Given the description of an element on the screen output the (x, y) to click on. 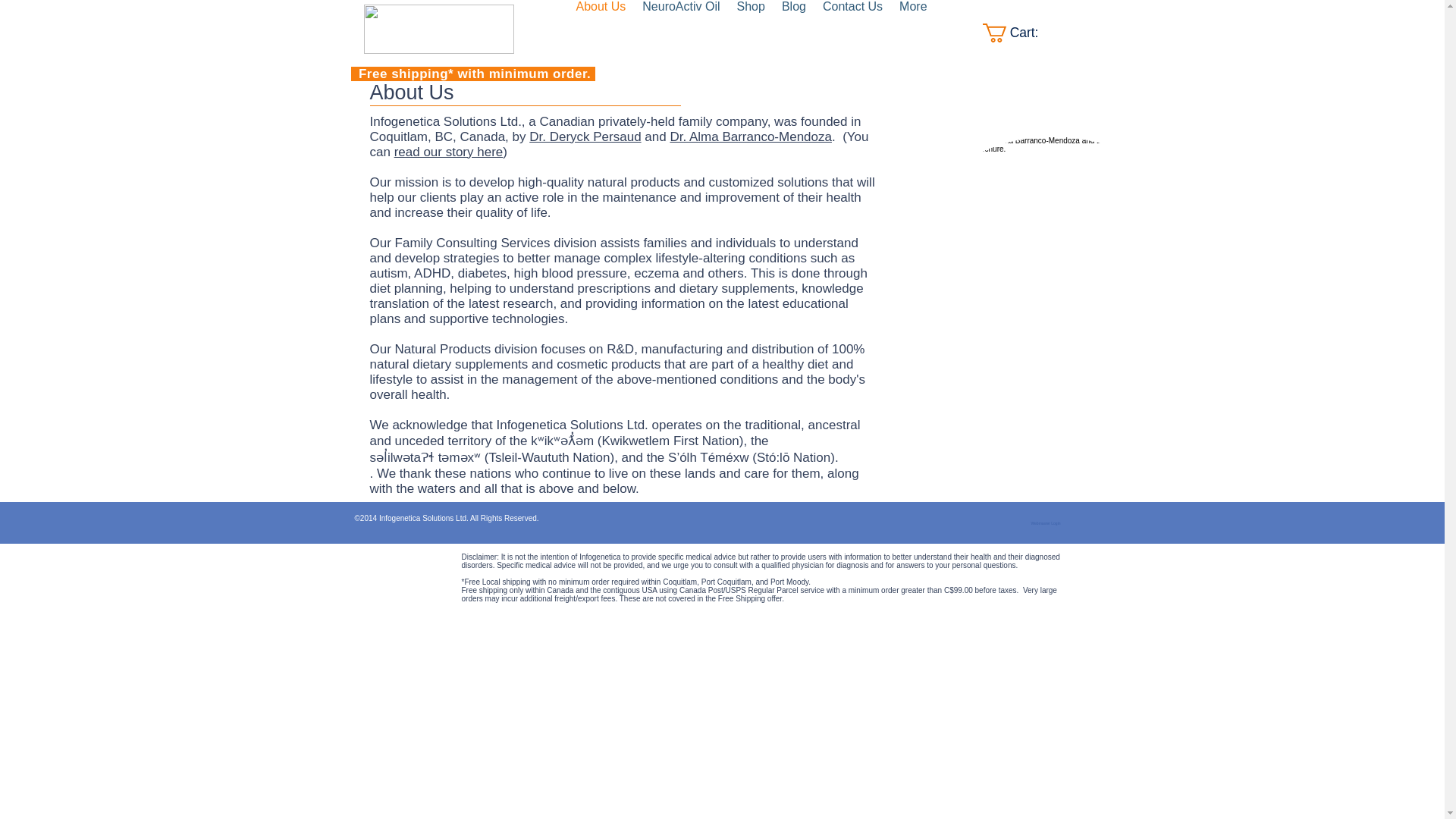
read our story here (448, 151)
About Us (600, 33)
Cart: (1020, 32)
NeuroActiv Oil (680, 33)
Contact Us (852, 33)
Dr. Deryck Persaud (584, 136)
Dr. Alma Barranco-Mendoza (750, 136)
Webmaster Login (1045, 523)
Cart: (1020, 32)
